Given the description of an element on the screen output the (x, y) to click on. 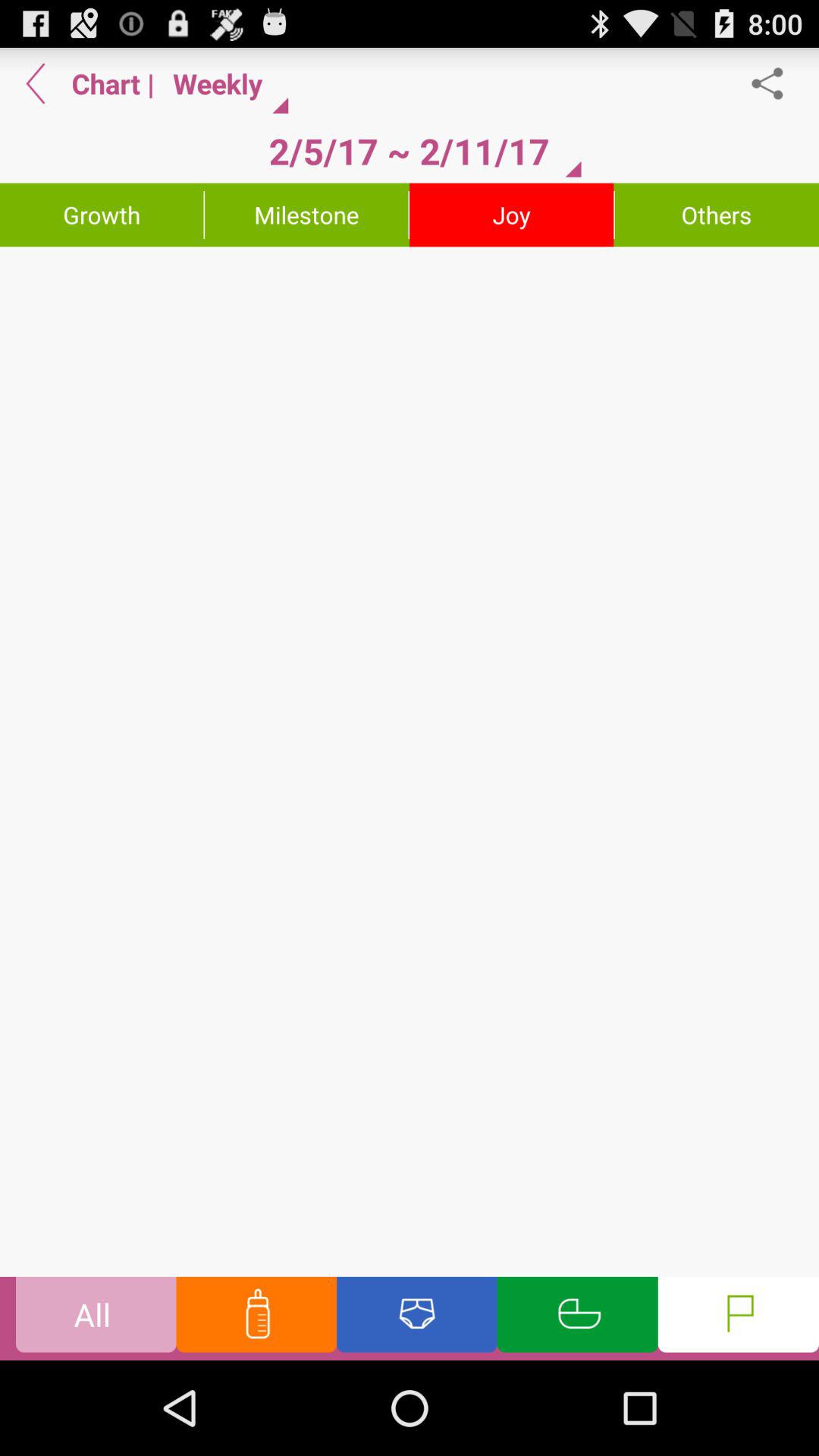
launch milestone item (306, 214)
